Given the description of an element on the screen output the (x, y) to click on. 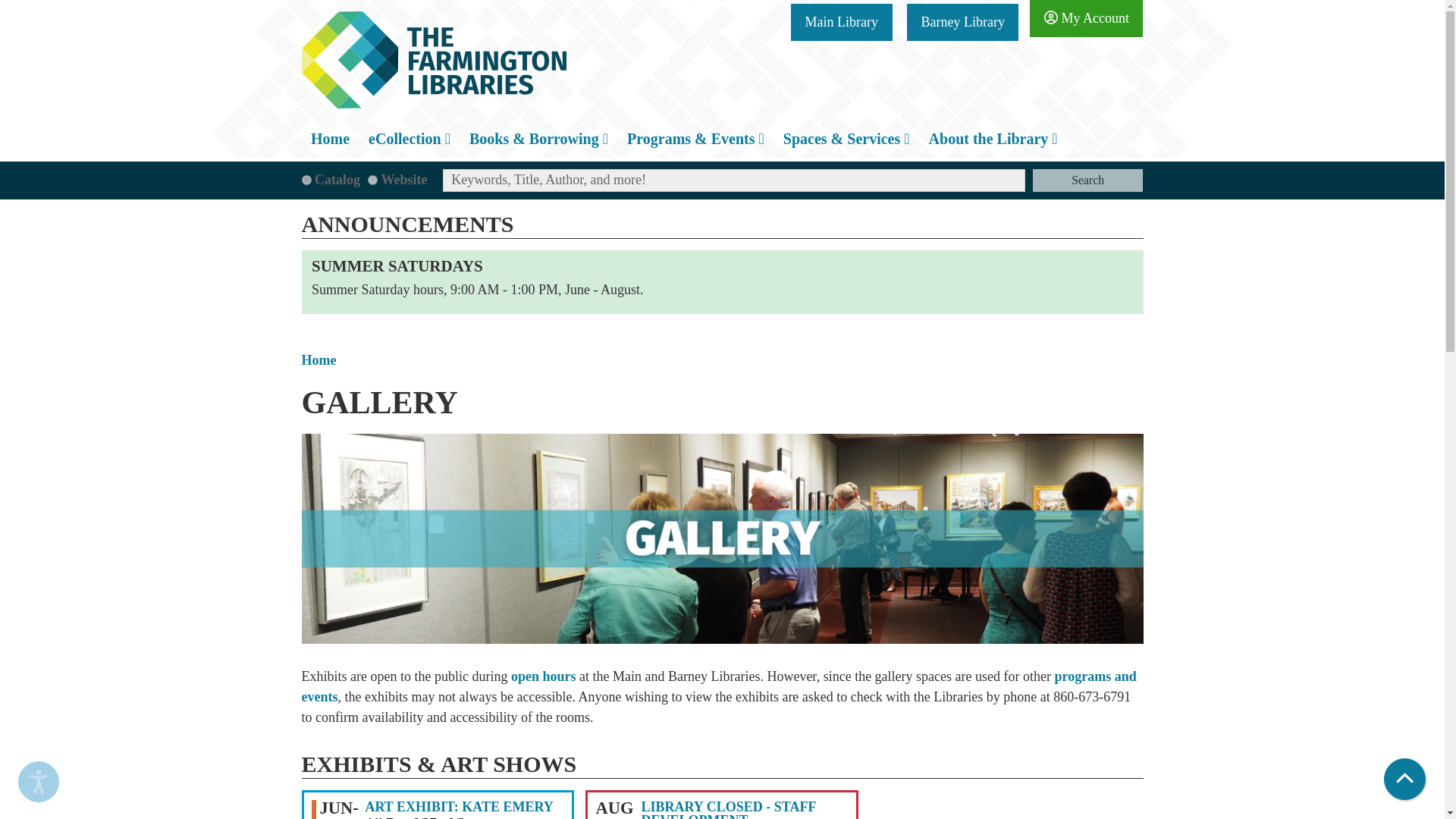
Barney Library (962, 22)
Main Library (840, 22)
Home (434, 59)
on (372, 180)
Back To Top (1404, 779)
Listen with the ReachDeck Toolbar (38, 781)
on (306, 180)
My Account (1085, 18)
Home (330, 138)
